Given the description of an element on the screen output the (x, y) to click on. 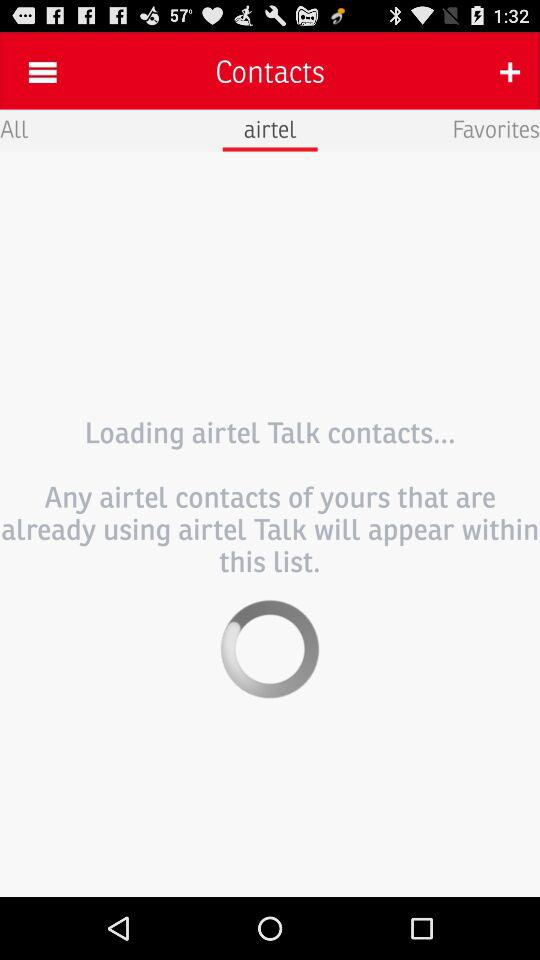
choose the item to the left of the airtel item (14, 128)
